Given the description of an element on the screen output the (x, y) to click on. 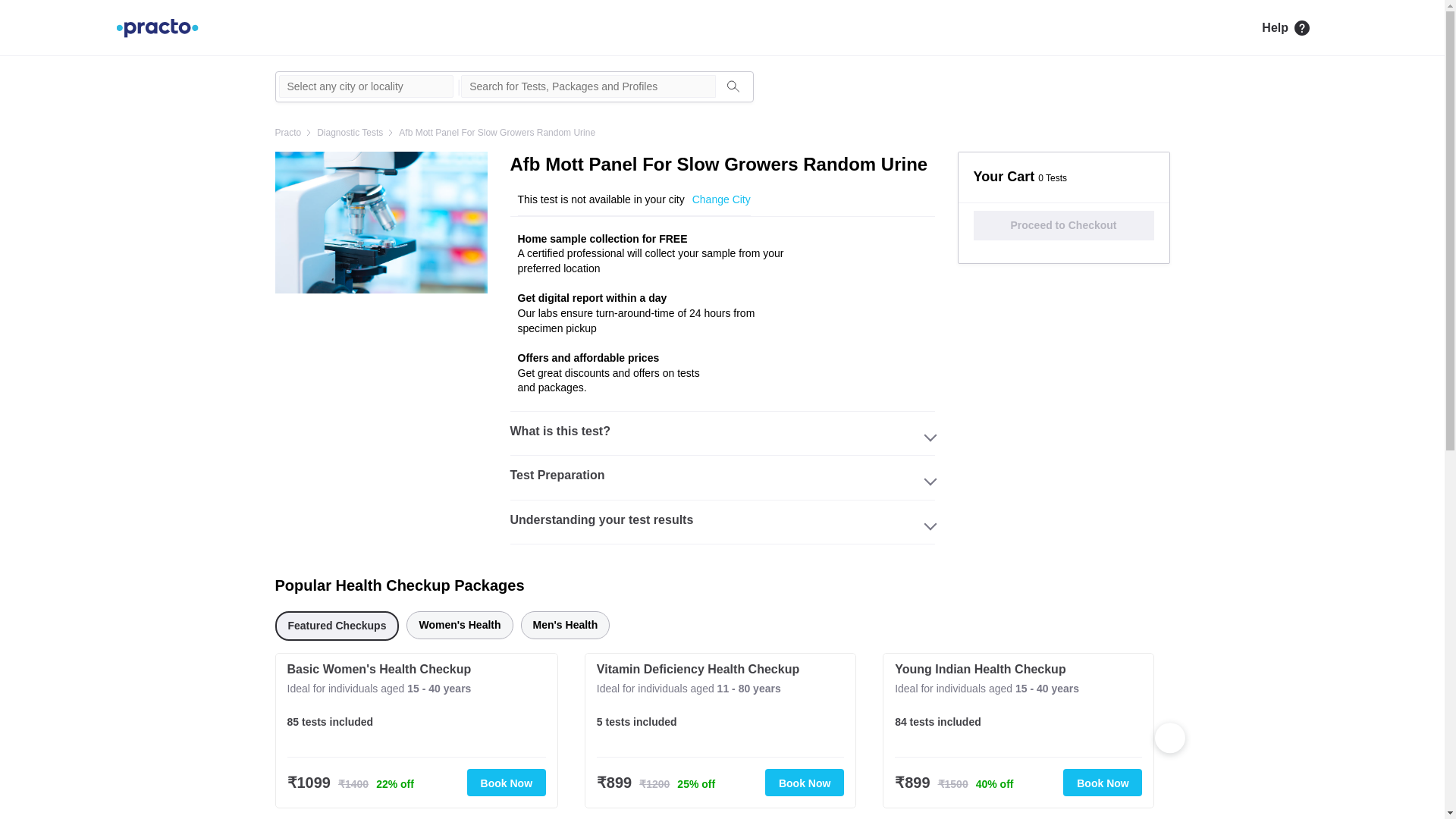
Practo (288, 132)
Proceed to Checkout (1063, 225)
Diagnostic Tests (349, 132)
Book Now (804, 782)
Book Now (1101, 782)
Book Now (506, 782)
